Given the description of an element on the screen output the (x, y) to click on. 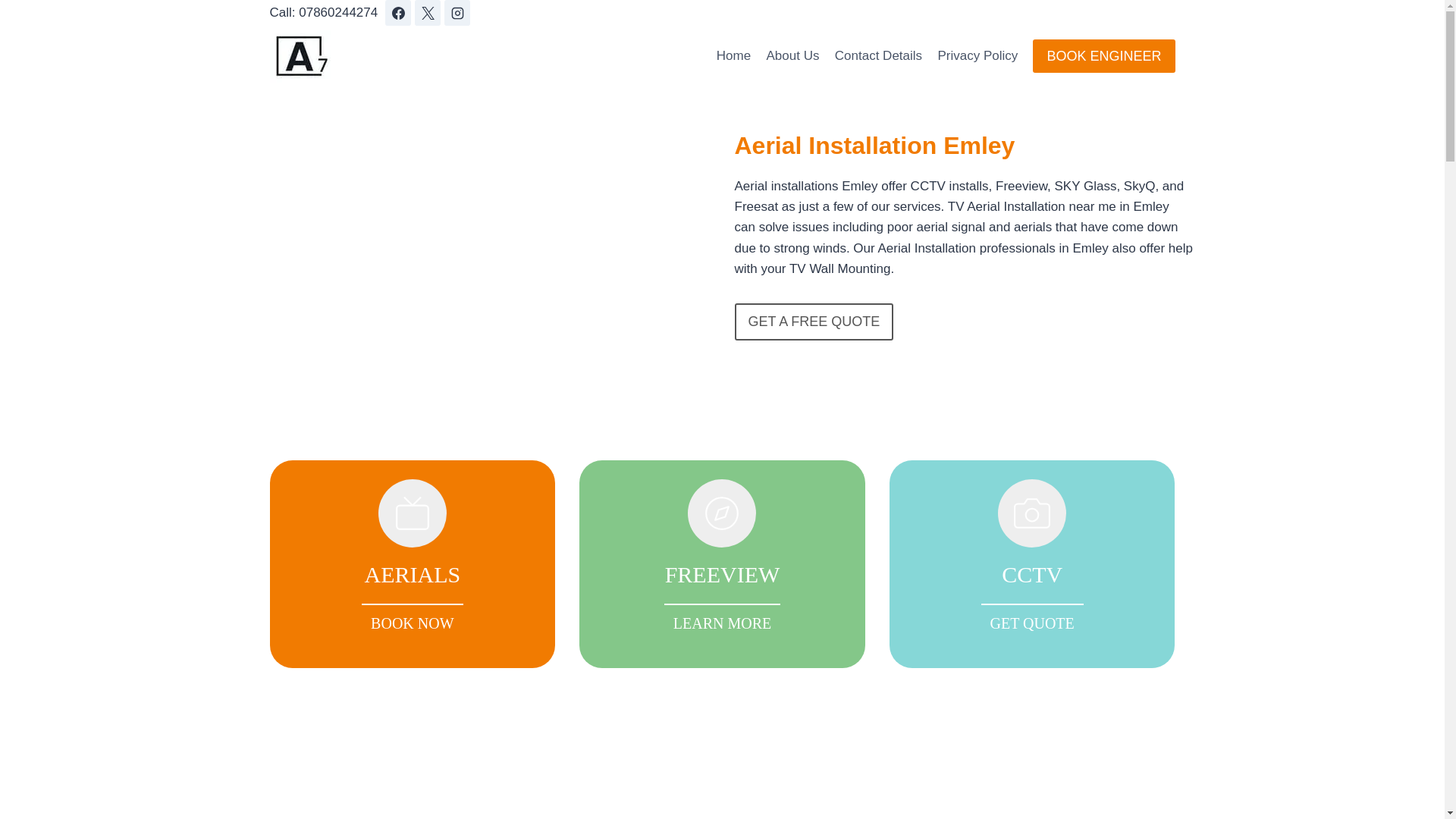
BOOK ENGINEER (721, 564)
Aerial Installation Emley 1 (1103, 55)
Home (480, 199)
About Us (733, 55)
GET A FREE QUOTE (792, 55)
Contact Details (813, 321)
Aerial Installation Emley 3 (1031, 564)
Privacy Policy (878, 55)
